Given the description of an element on the screen output the (x, y) to click on. 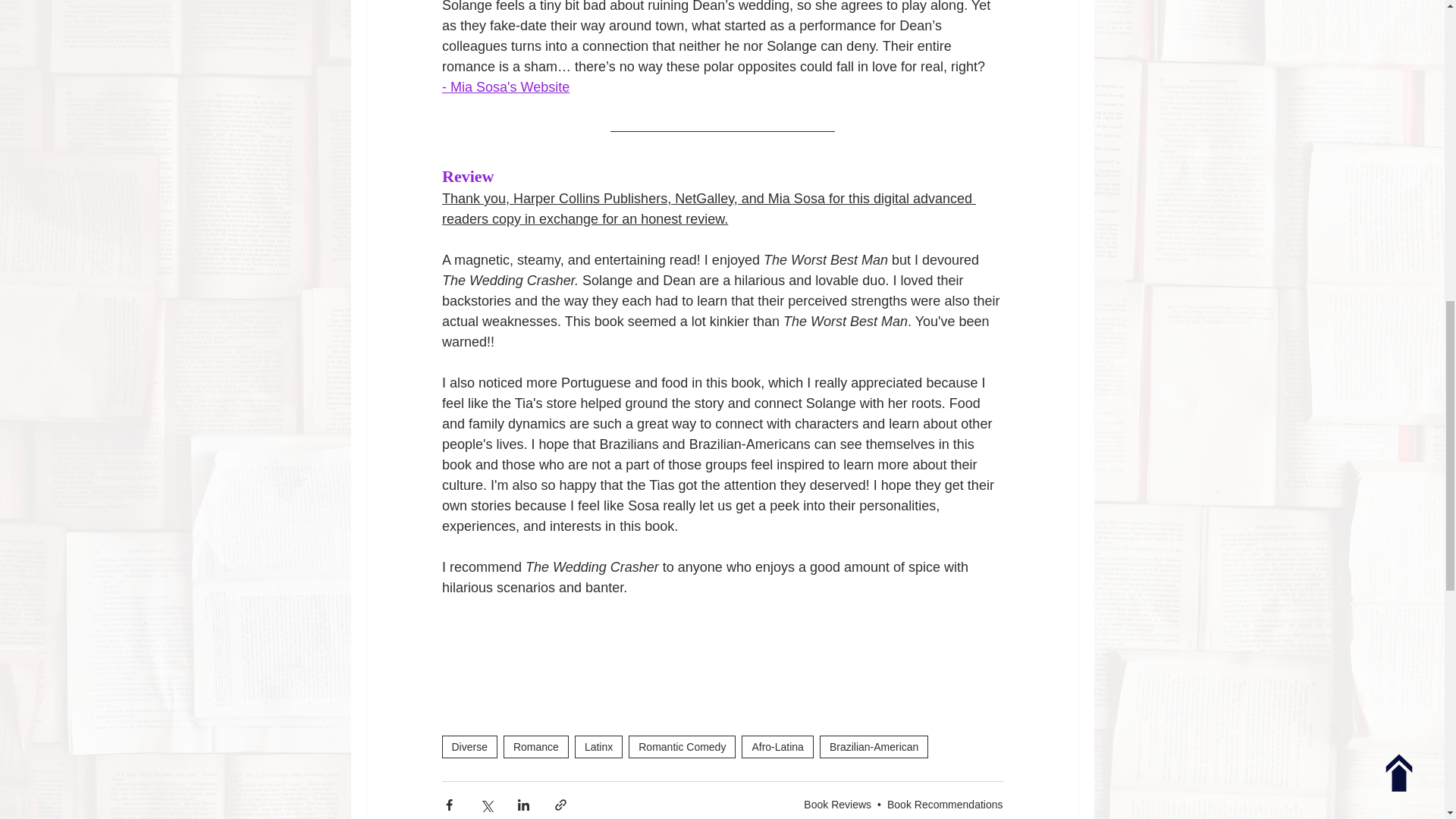
- Mia Sosa's Website (505, 87)
Diverse (468, 746)
Afro-Latina (776, 746)
Romantic Comedy (681, 746)
Romance (536, 746)
Brazilian-American (873, 746)
Book Reviews (836, 803)
Book Recommendations (944, 803)
Latinx (599, 746)
